Given the description of an element on the screen output the (x, y) to click on. 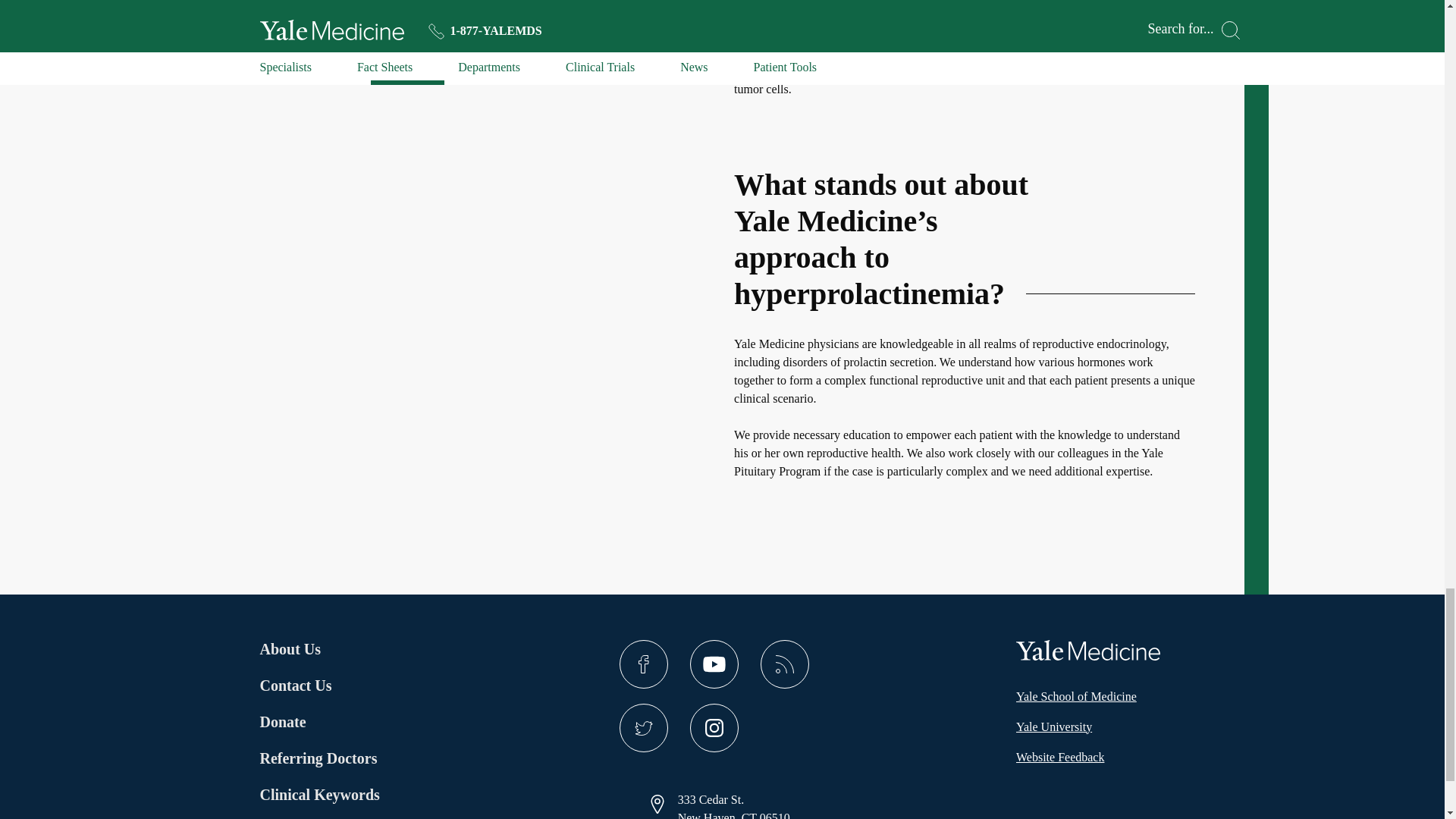
Referring Doctors (318, 758)
Yale School of Medicine (1076, 696)
Donate (318, 721)
Clinical Keywords (339, 794)
Yale University (1054, 727)
About Us (318, 648)
Website Feedback (1059, 757)
Contact Us (318, 685)
